Given the description of an element on the screen output the (x, y) to click on. 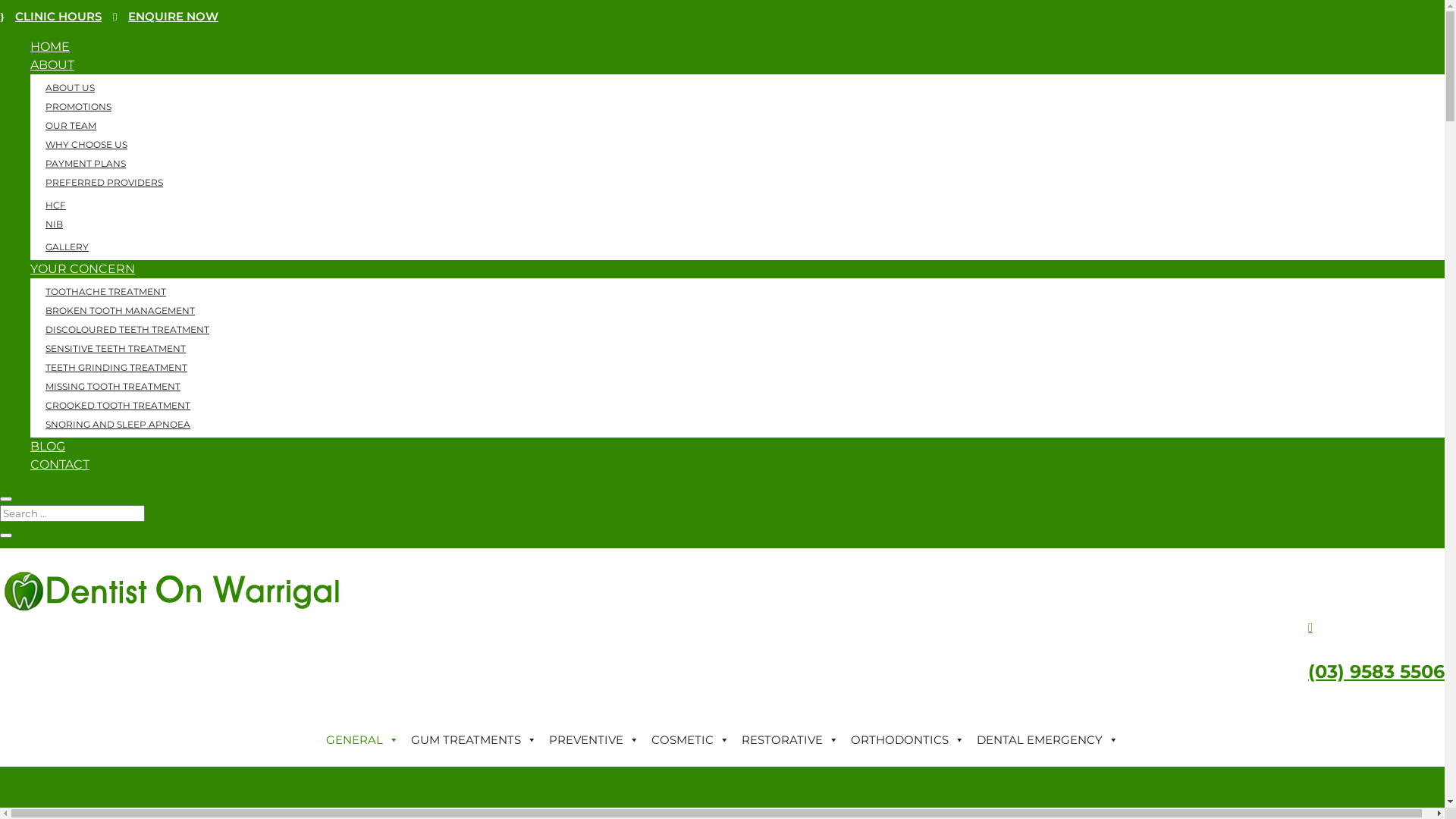
ABOUT US Element type: text (69, 87)
BROKEN TOOTH MANAGEMENT Element type: text (120, 310)
PREVENTIVE Element type: text (593, 739)
PAYMENT PLANS Element type: text (85, 163)
RESTORATIVE Element type: text (789, 739)
MISSING TOOTH TREATMENT Element type: text (112, 386)
BLOG Element type: text (47, 446)
HCF Element type: text (55, 205)
DENTAL EMERGENCY Element type: text (1047, 739)
SNORING AND SLEEP APNOEA Element type: text (117, 424)
ENQUIRE NOW Element type: text (165, 16)
SENSITIVE TEETH TREATMENT Element type: text (115, 348)
CROOKED TOOTH TREATMENT Element type: text (117, 405)
ABOUT Element type: text (52, 64)
Search for: Element type: hover (72, 513)
GENERAL Element type: text (362, 739)
CONTACT Element type: text (59, 464)
DISCOLOURED TEETH TREATMENT Element type: text (127, 329)
TEETH GRINDING TREATMENT Element type: text (116, 367)
WHY CHOOSE US Element type: text (86, 144)
PREFERRED PROVIDERS Element type: text (104, 182)
OUR TEAM Element type: text (70, 125)
PROMOTIONS Element type: text (78, 106)
GUM TREATMENTS Element type: text (473, 739)
NIB Element type: text (54, 224)
TOOTHACHE TREATMENT Element type: text (105, 291)
YOUR CONCERN Element type: text (82, 268)
COSMETIC Element type: text (690, 739)
ORTHODONTICS Element type: text (907, 739)
CLINIC HOURS Element type: text (50, 16)
(03) 9583 5506 Element type: text (1376, 671)
GALLERY Element type: text (66, 246)
HOME Element type: text (49, 46)
